Given the description of an element on the screen output the (x, y) to click on. 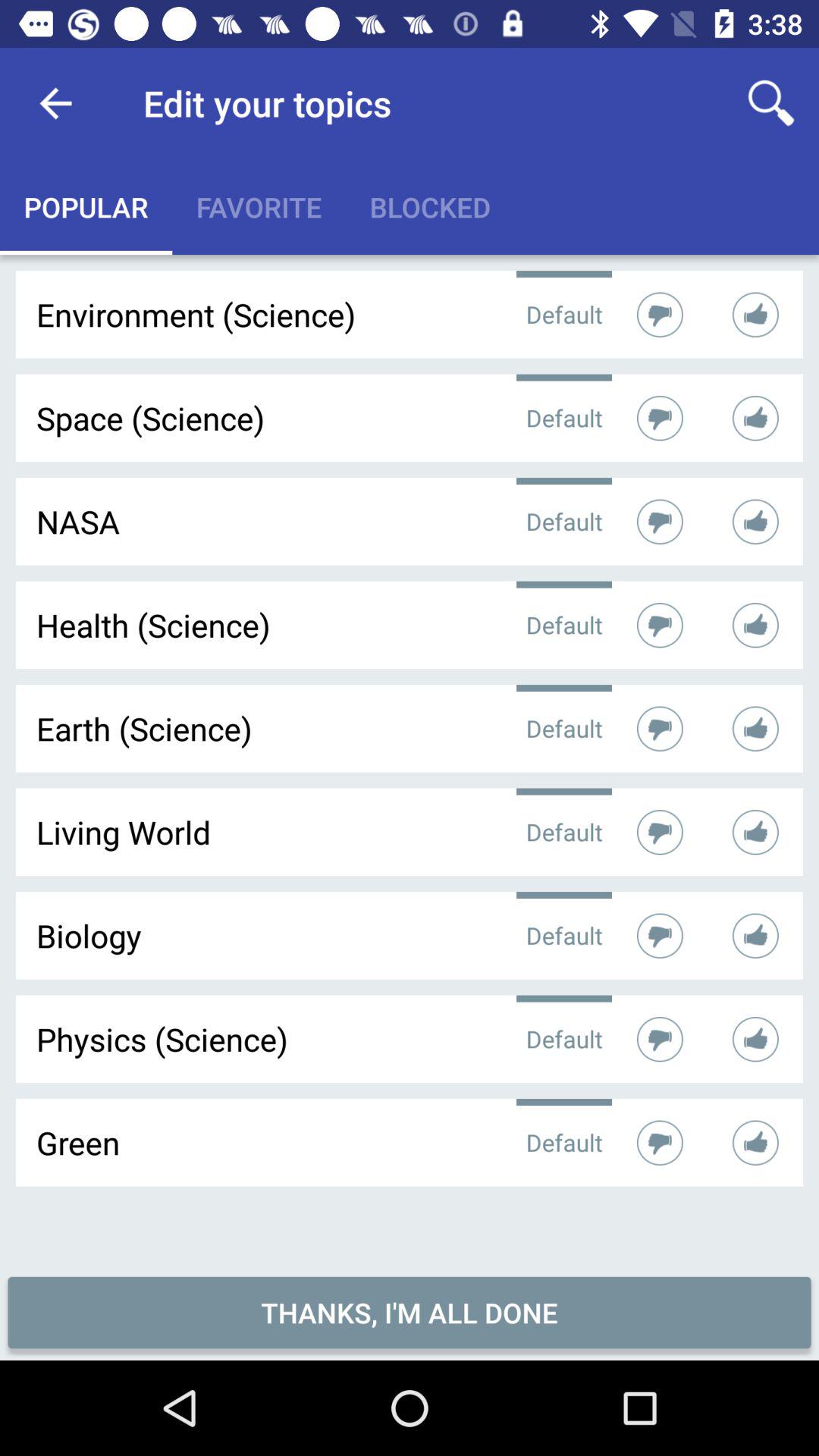
click on the thumbs down symbol of earthscience (659, 728)
select the option default which is after nasa (563, 521)
click on the dislike option  to the right of green text (659, 1142)
click on the default option beside earthscience (563, 728)
select the default  option which is after the green (563, 1142)
select the default option which is to the right side of health science option (563, 624)
